Given the description of an element on the screen output the (x, y) to click on. 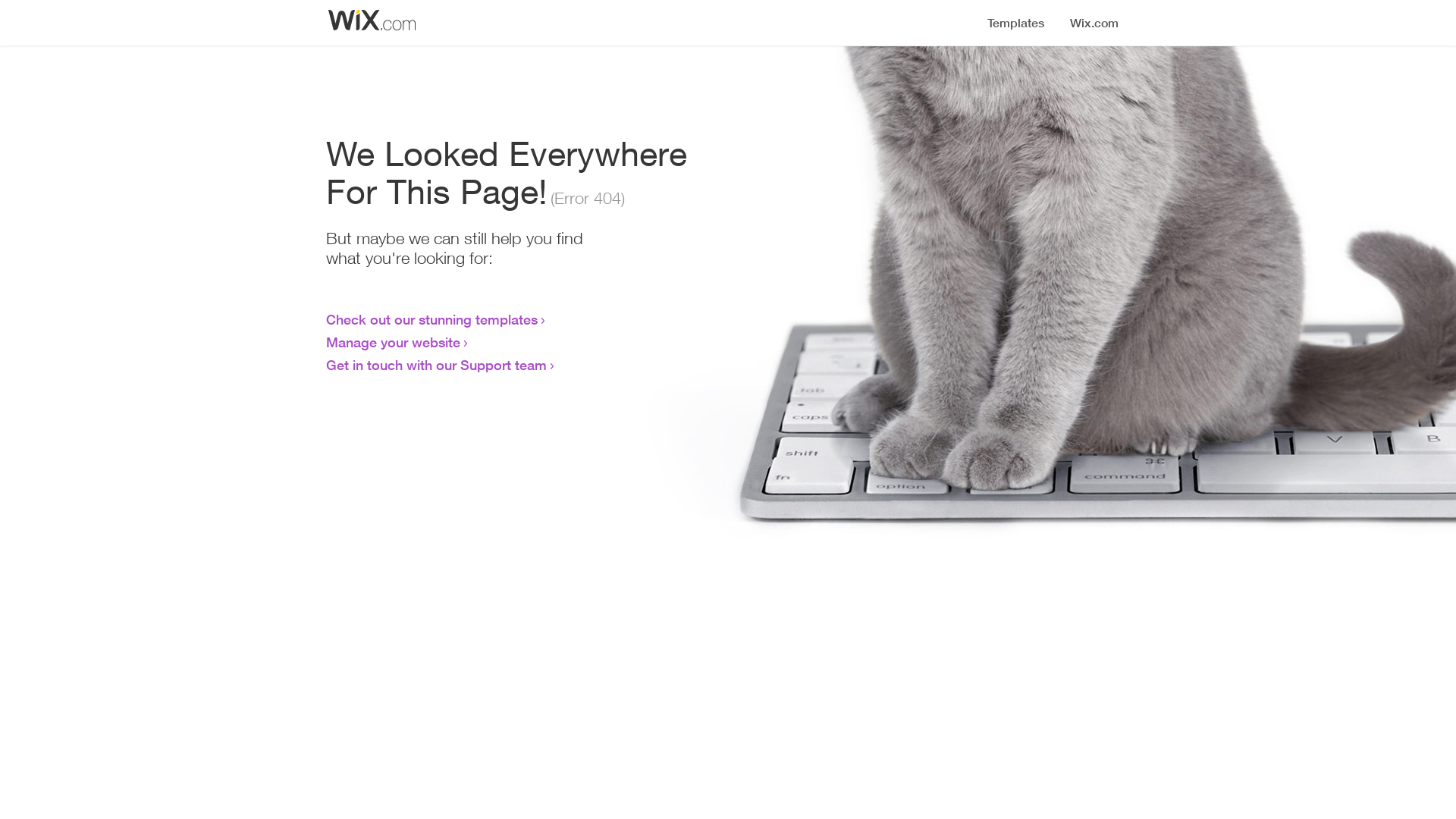
Get in touch with our Support team Element type: text (436, 364)
Check out our stunning templates Element type: text (431, 318)
Manage your website Element type: text (393, 341)
